Given the description of an element on the screen output the (x, y) to click on. 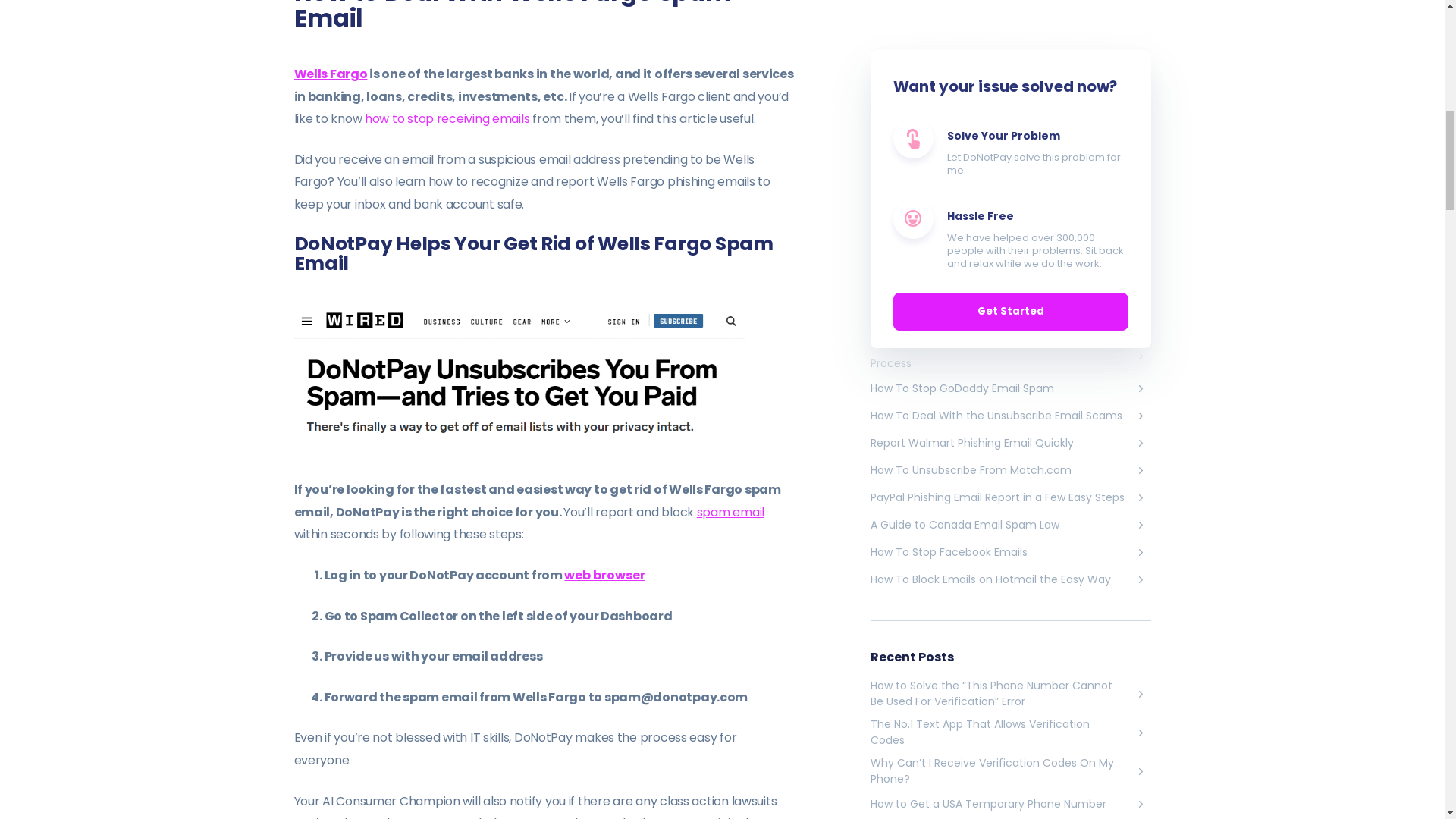
how to stop receiving emails (447, 118)
Wells Fargo (331, 73)
web browser (604, 574)
spam email (730, 511)
